Given the description of an element on the screen output the (x, y) to click on. 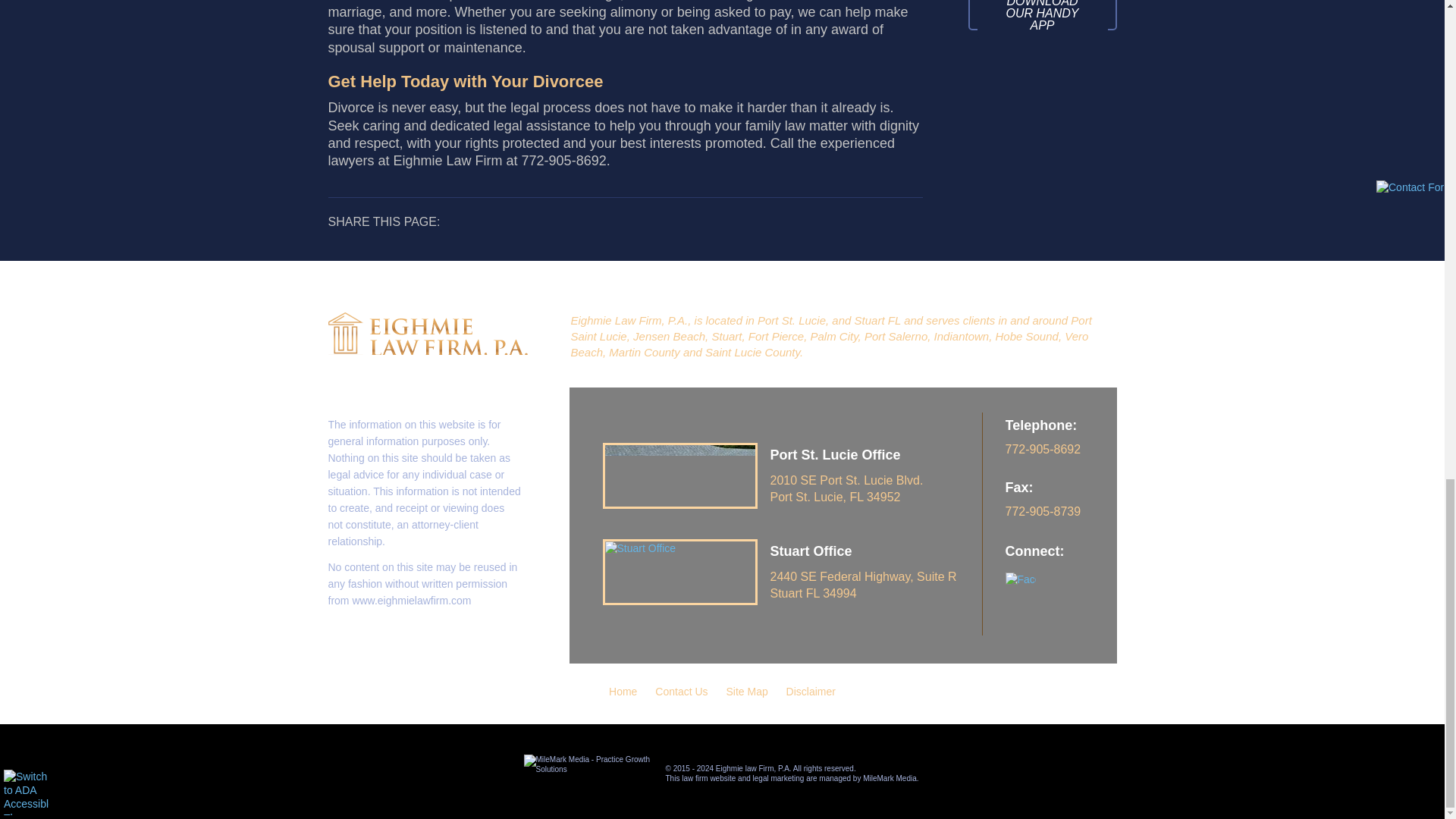
DOWNLOAD OUR HANDY APP (1041, 19)
772-905-8692 (1061, 461)
